Given the description of an element on the screen output the (x, y) to click on. 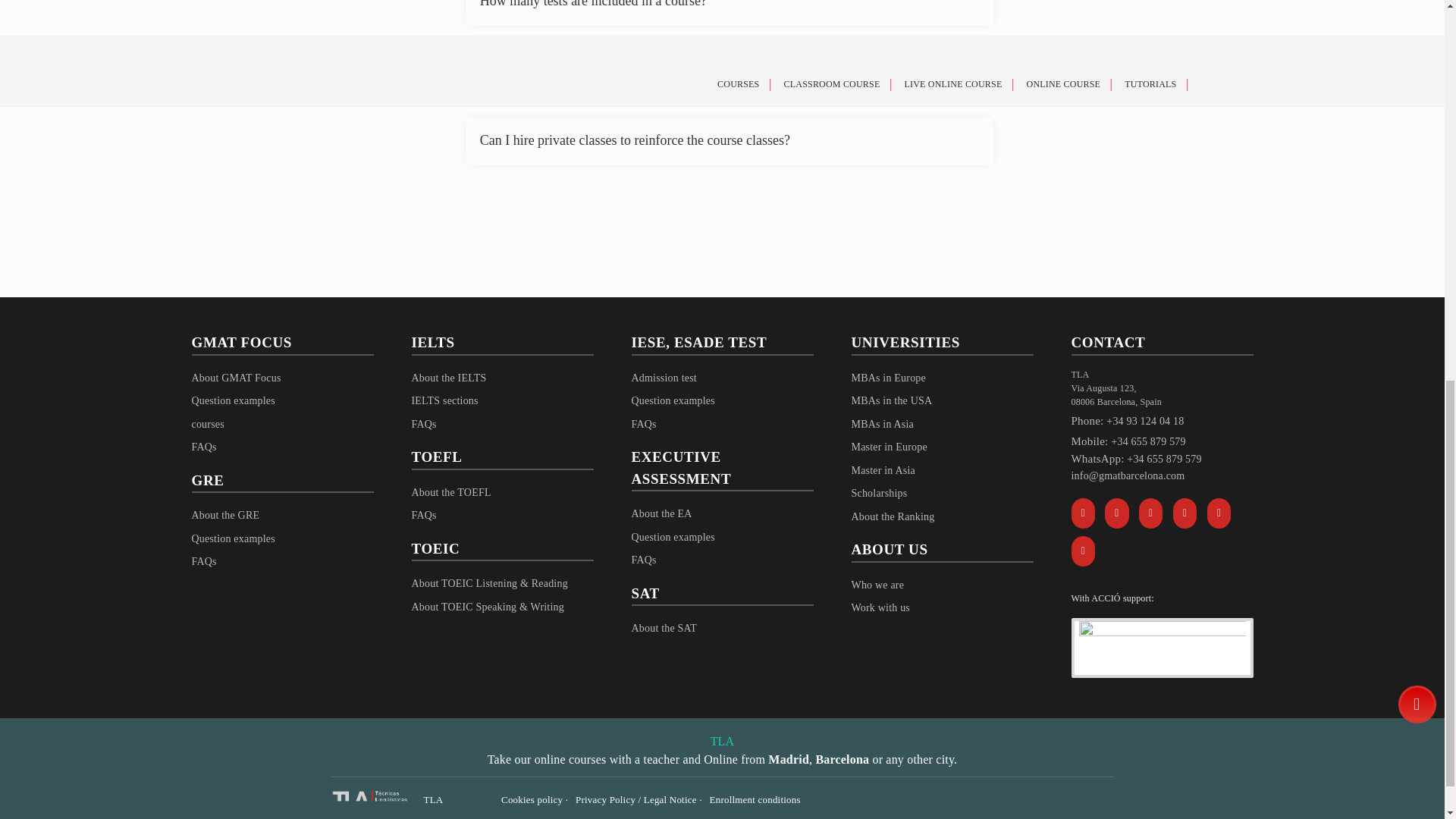
About GMAT Focus (235, 377)
GMAT Focus FAQs (202, 446)
GMAT Focus Courses (207, 423)
GMAT Focus Questions (232, 400)
